Given the description of an element on the screen output the (x, y) to click on. 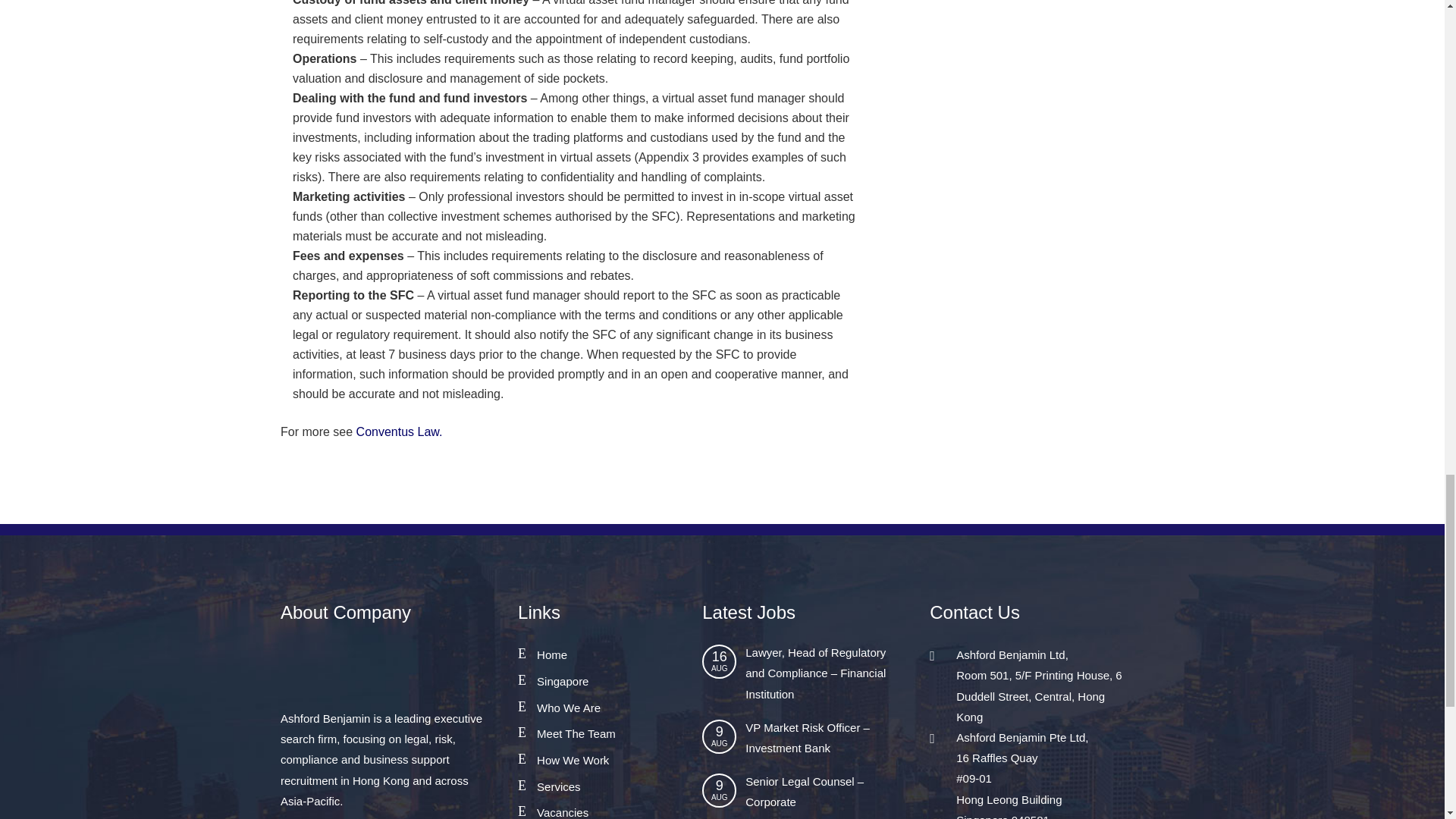
Services (558, 786)
Home (552, 654)
How We Work (572, 759)
 Conventus Law. (397, 431)
Vacancies (562, 812)
Meet The Team (576, 733)
Singapore (562, 680)
Who We Are (568, 707)
